Given the description of an element on the screen output the (x, y) to click on. 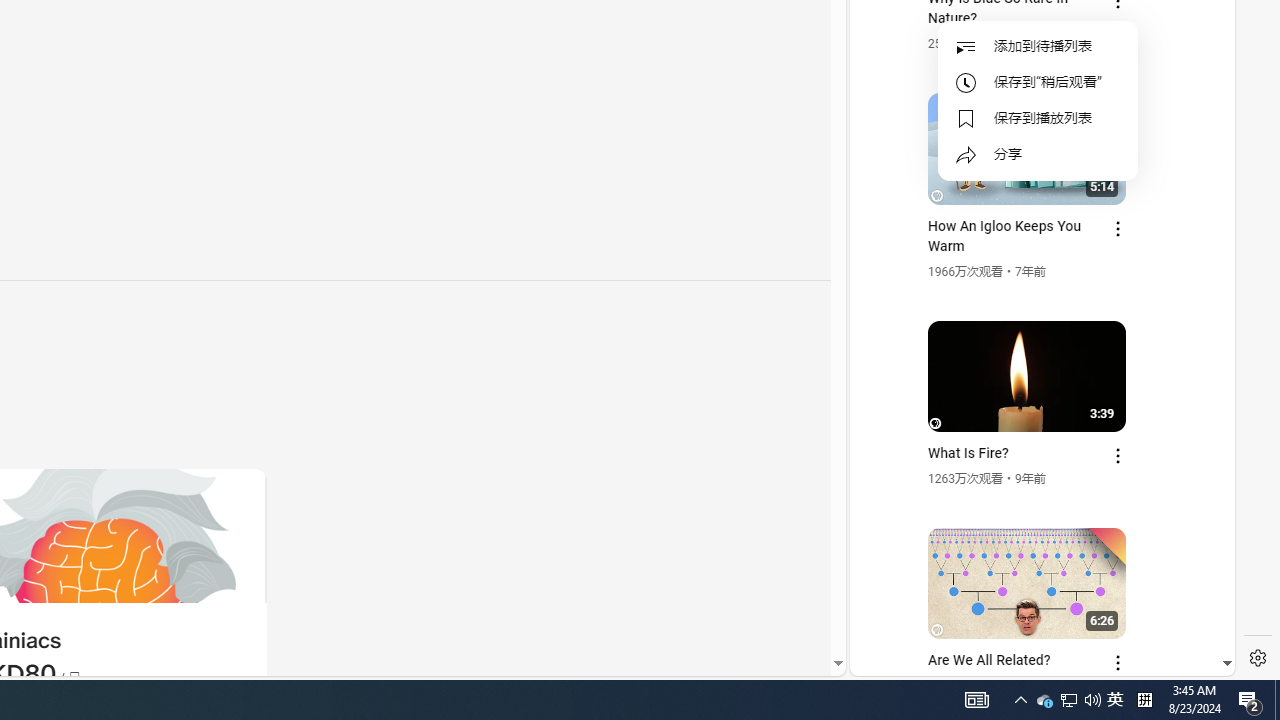
you (1034, 609)
